Given the description of an element on the screen output the (x, y) to click on. 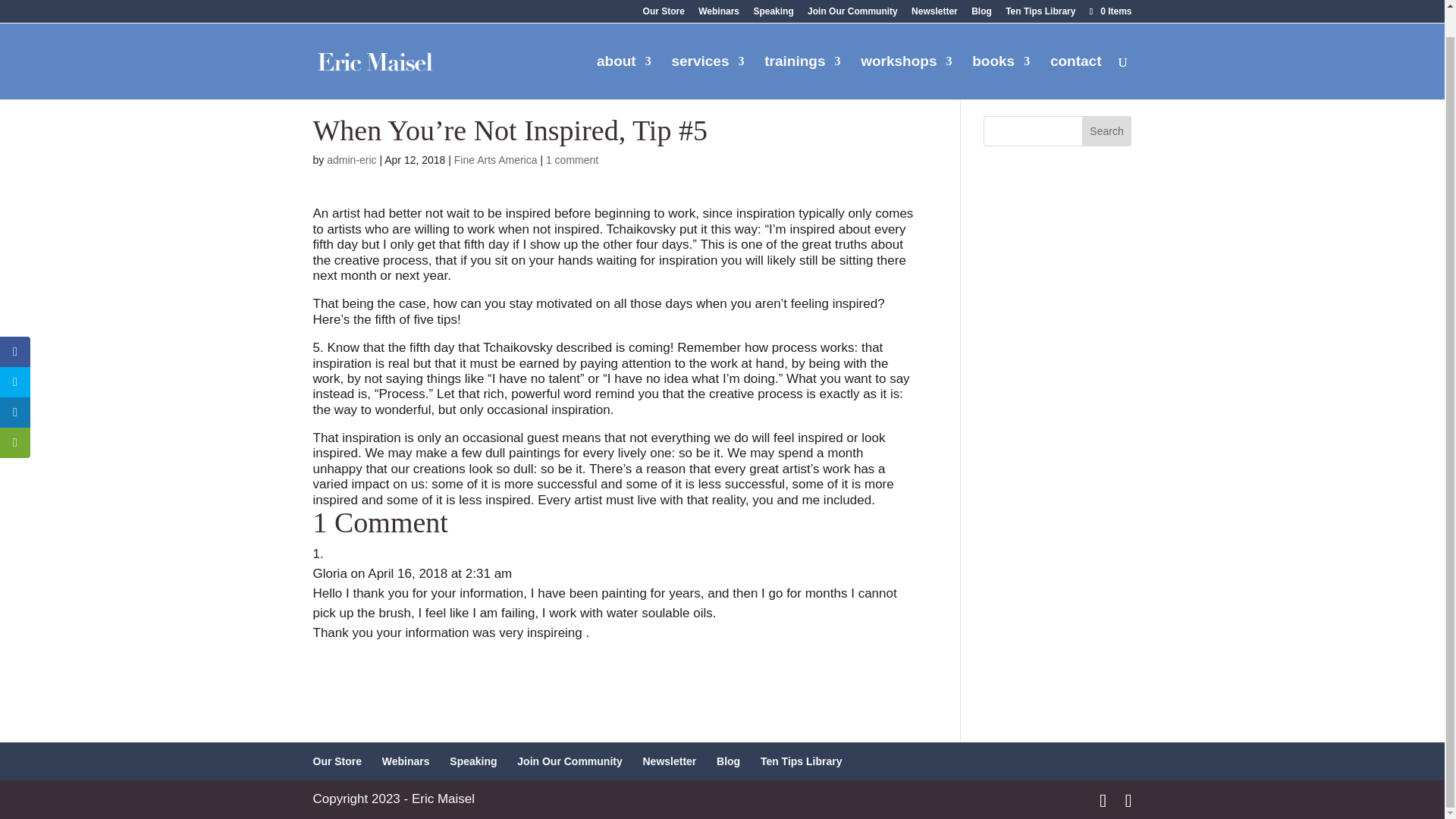
contact (1075, 50)
trainings (802, 50)
books (1000, 50)
workshops (906, 50)
about (623, 50)
Posts by admin-eric (350, 159)
Search (1106, 131)
services (707, 50)
